Given the description of an element on the screen output the (x, y) to click on. 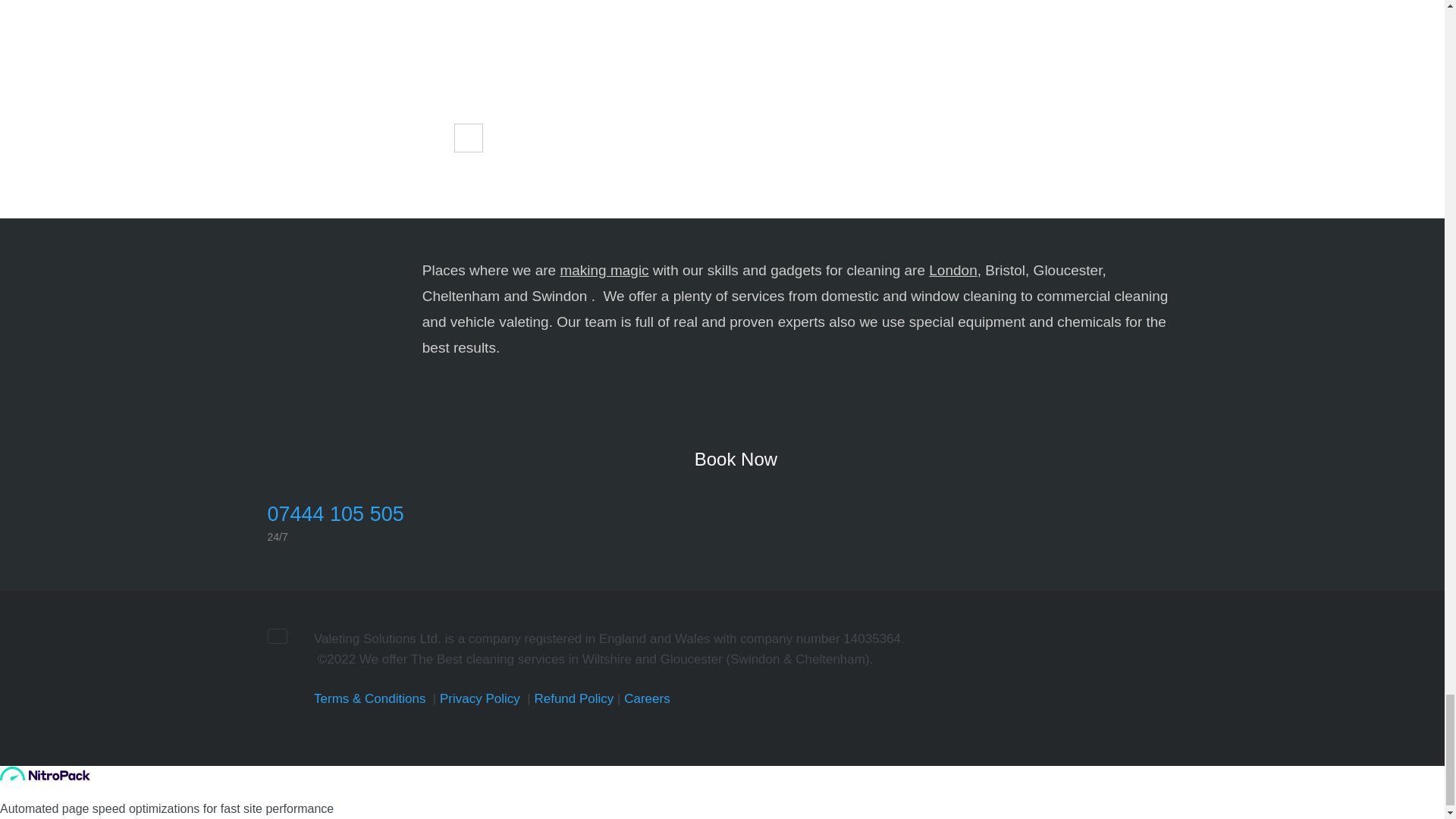
HD Clean (389, 111)
HD Clean Cleaners Jobs (646, 698)
HD Clean Privacy Policy (479, 698)
Cleaning company Terms (369, 698)
Wiltshire and Gloucestershire (334, 288)
